Given the description of an element on the screen output the (x, y) to click on. 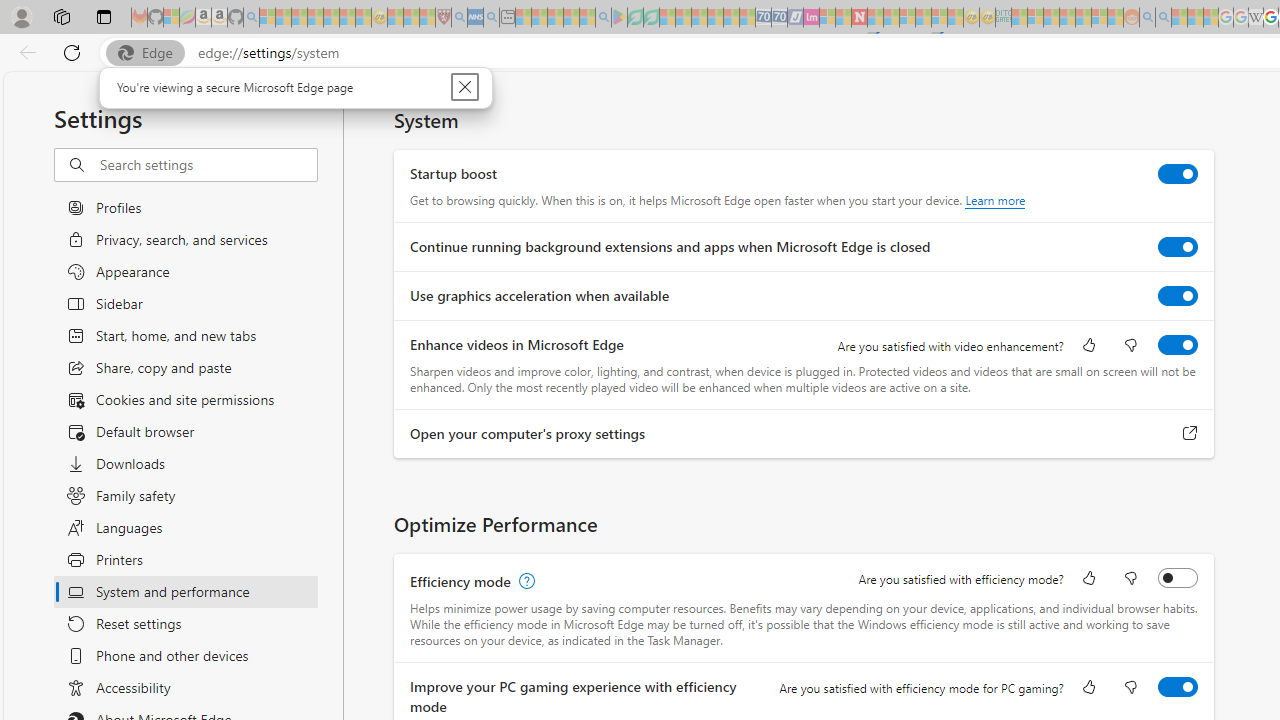
Bluey: Let's Play! - Apps on Google Play - Sleeping (619, 17)
Target page - Wikipedia - Sleeping (1256, 17)
Search settings (207, 165)
Kinda Frugal - MSN - Sleeping (1083, 17)
